Given the description of an element on the screen output the (x, y) to click on. 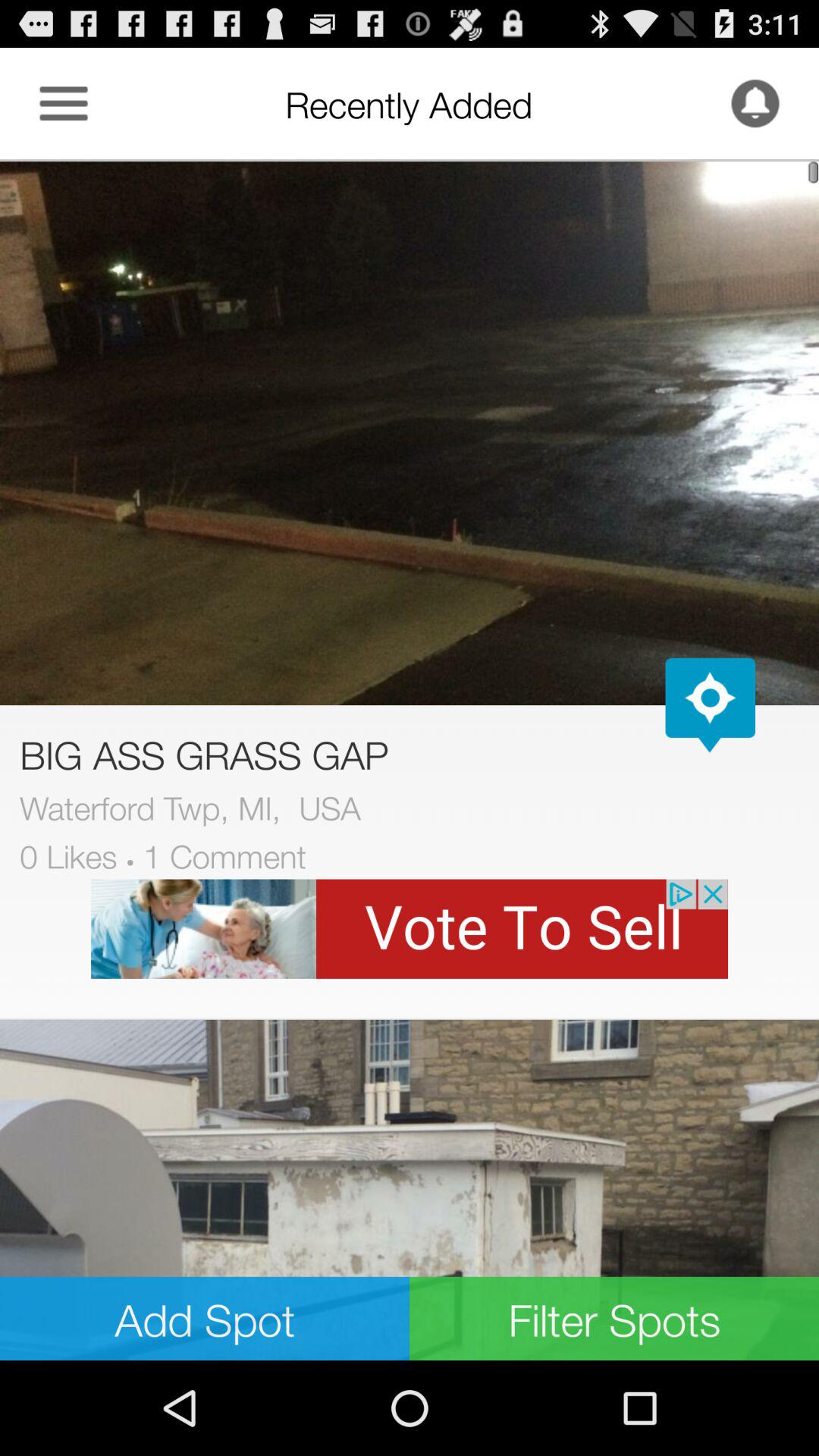
to display location (710, 705)
